Given the description of an element on the screen output the (x, y) to click on. 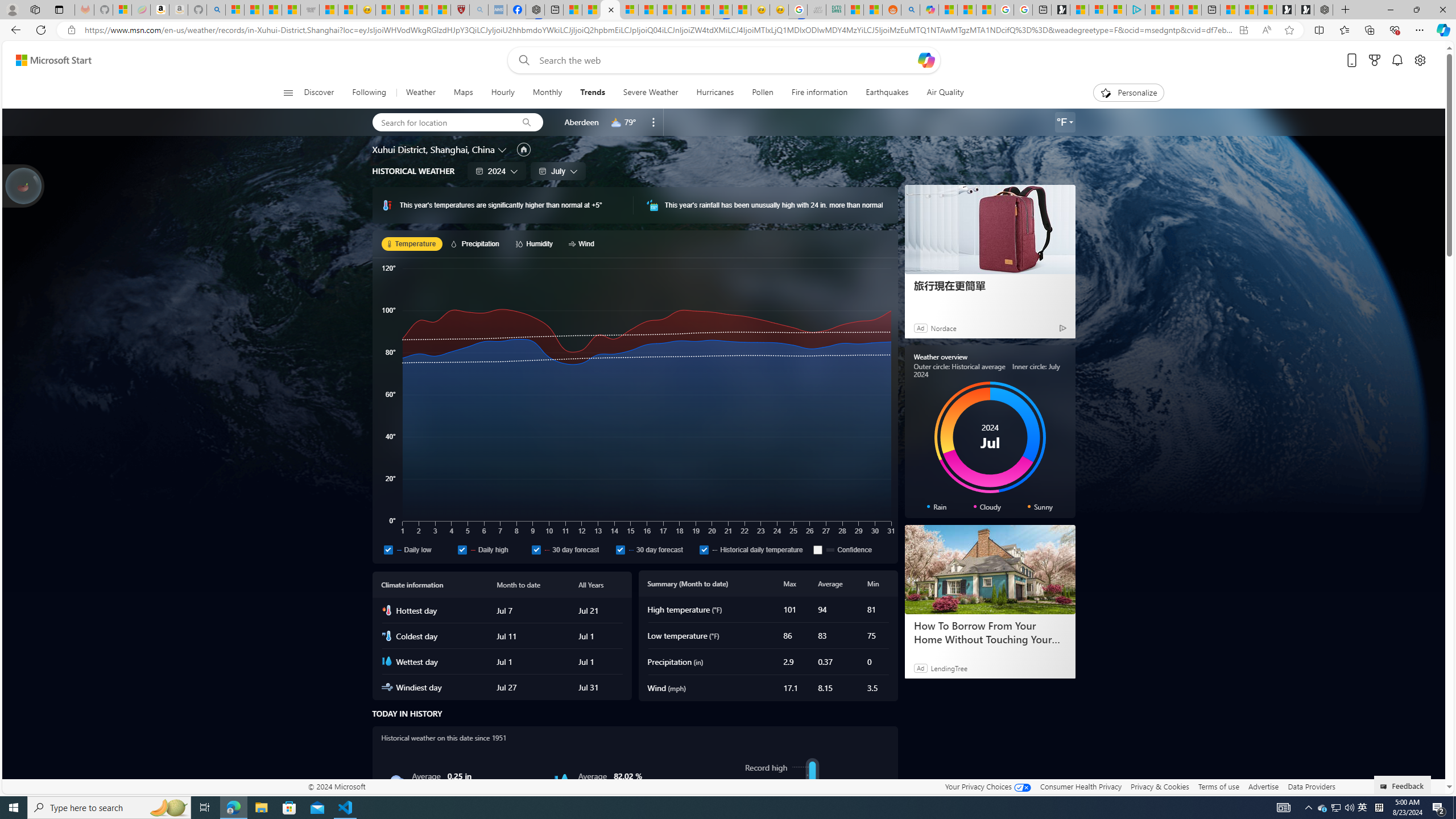
Historical daily temperature (753, 549)
Humidity (536, 243)
12 Popular Science Lies that Must be Corrected (440, 9)
App available. Install Microsoft Start Weather (1243, 29)
Daily high (492, 549)
Severe Weather (649, 92)
Utah sues federal government - Search (910, 9)
